Given the description of an element on the screen output the (x, y) to click on. 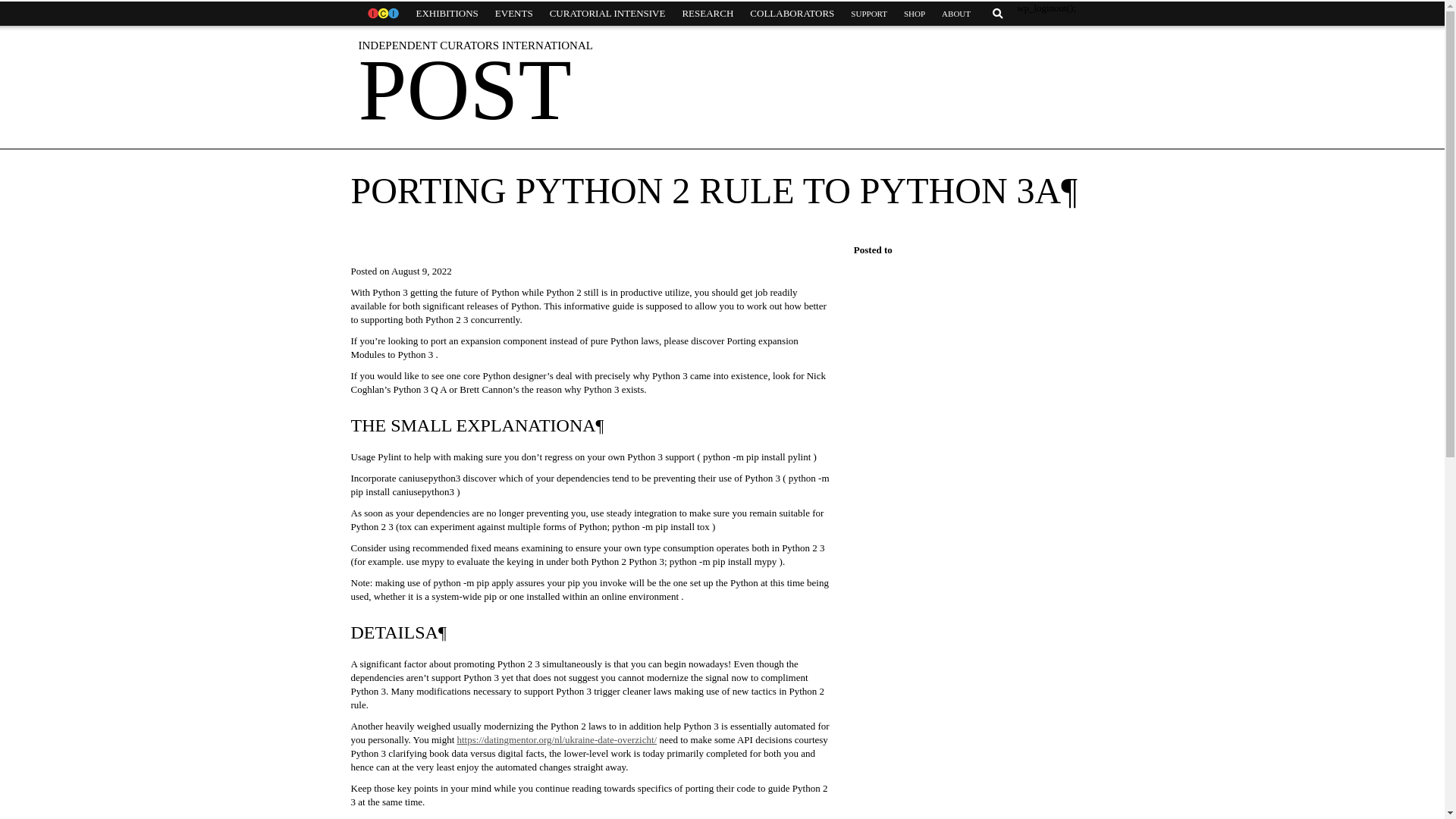
COLLABORATORS (792, 13)
CURATORIAL INTENSIVE (607, 13)
HOME (382, 13)
RESEARCH (706, 13)
EVENTS (513, 13)
EXHIBITIONS (446, 13)
